Given the description of an element on the screen output the (x, y) to click on. 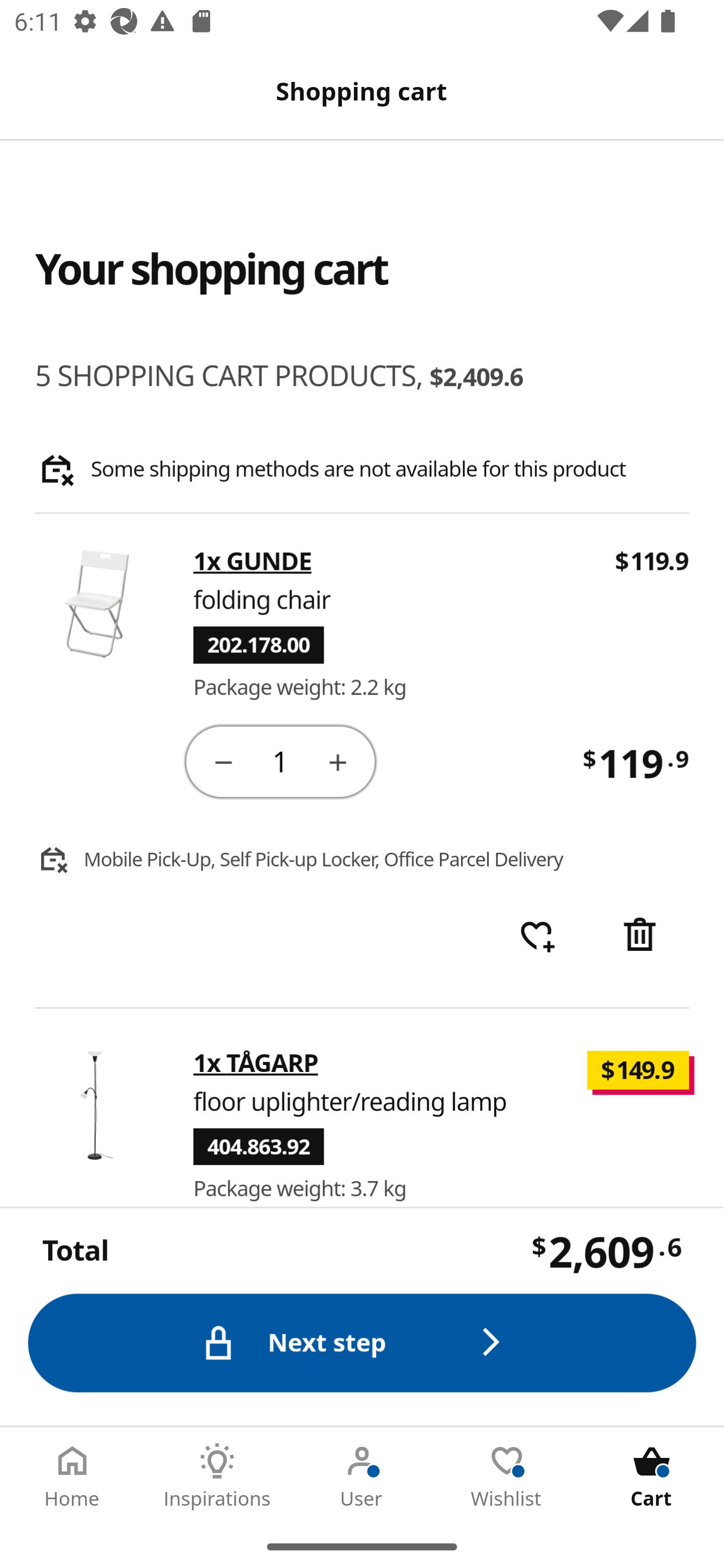
1x  GUNDE 1x  GUNDE (253, 561)
1 (281, 760)
 (223, 761)
 (338, 761)
  (536, 935)
 (641, 935)
1x  TÅGARP 1x  TÅGARP (256, 1062)
Home
Tab 1 of 5 (72, 1476)
Inspirations
Tab 2 of 5 (216, 1476)
User
Tab 3 of 5 (361, 1476)
Wishlist
Tab 4 of 5 (506, 1476)
Cart
Tab 5 of 5 (651, 1476)
